Given the description of an element on the screen output the (x, y) to click on. 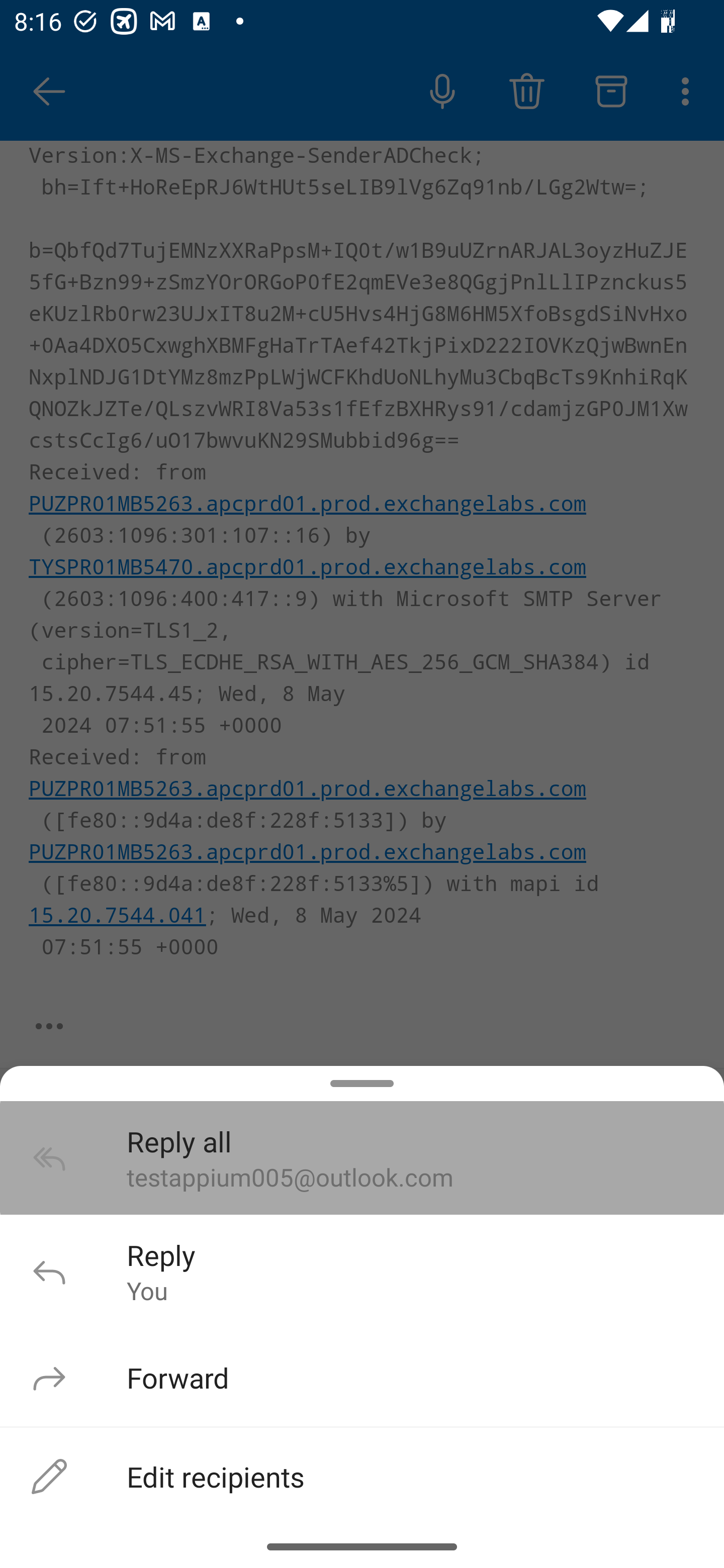
Reply Reply To You You   (362, 1271)
Forward (362, 1377)
Edit recipients (362, 1475)
